Given the description of an element on the screen output the (x, y) to click on. 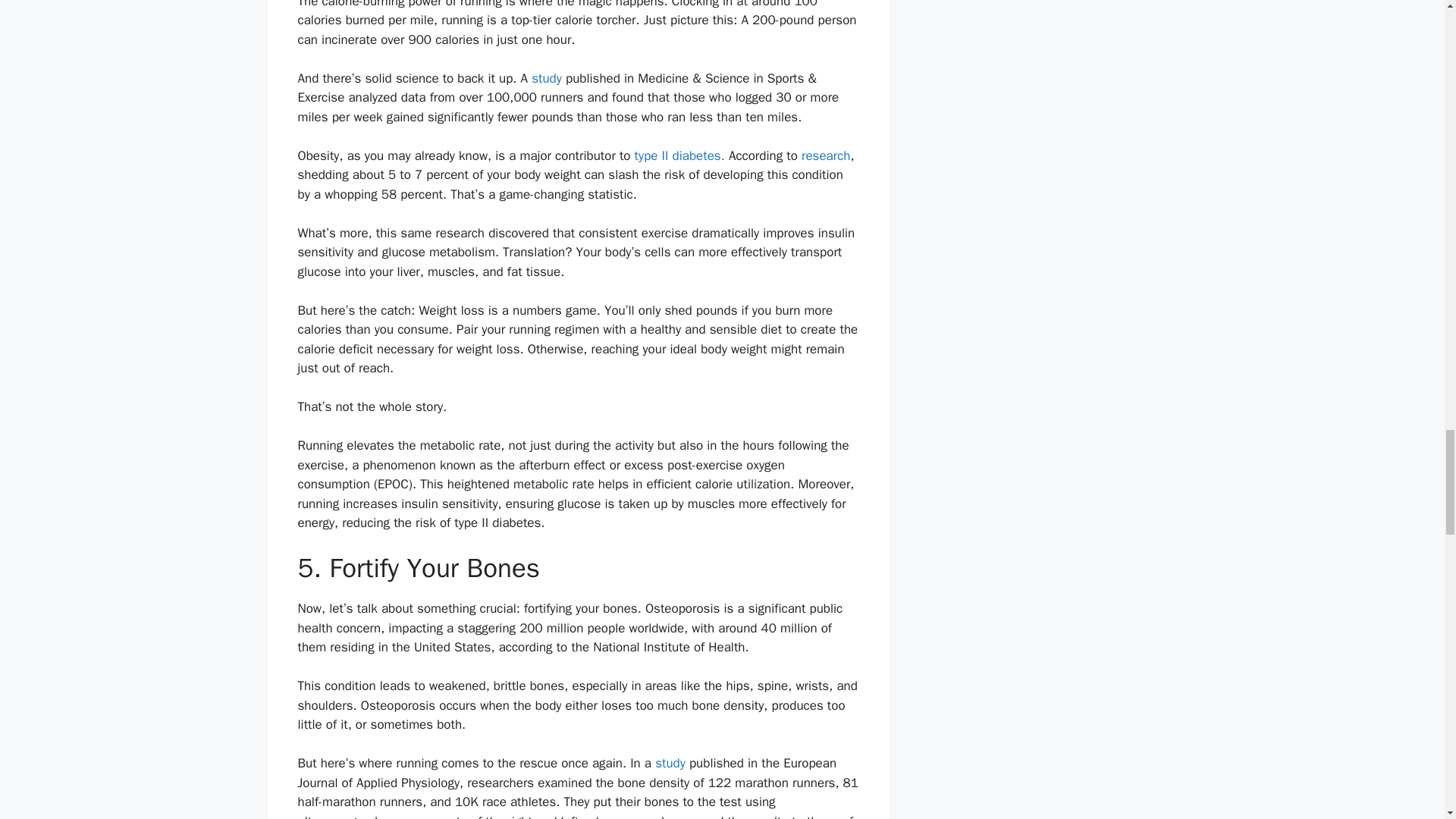
type II diabetes. (677, 155)
study (670, 763)
study (546, 78)
research (826, 155)
